Given the description of an element on the screen output the (x, y) to click on. 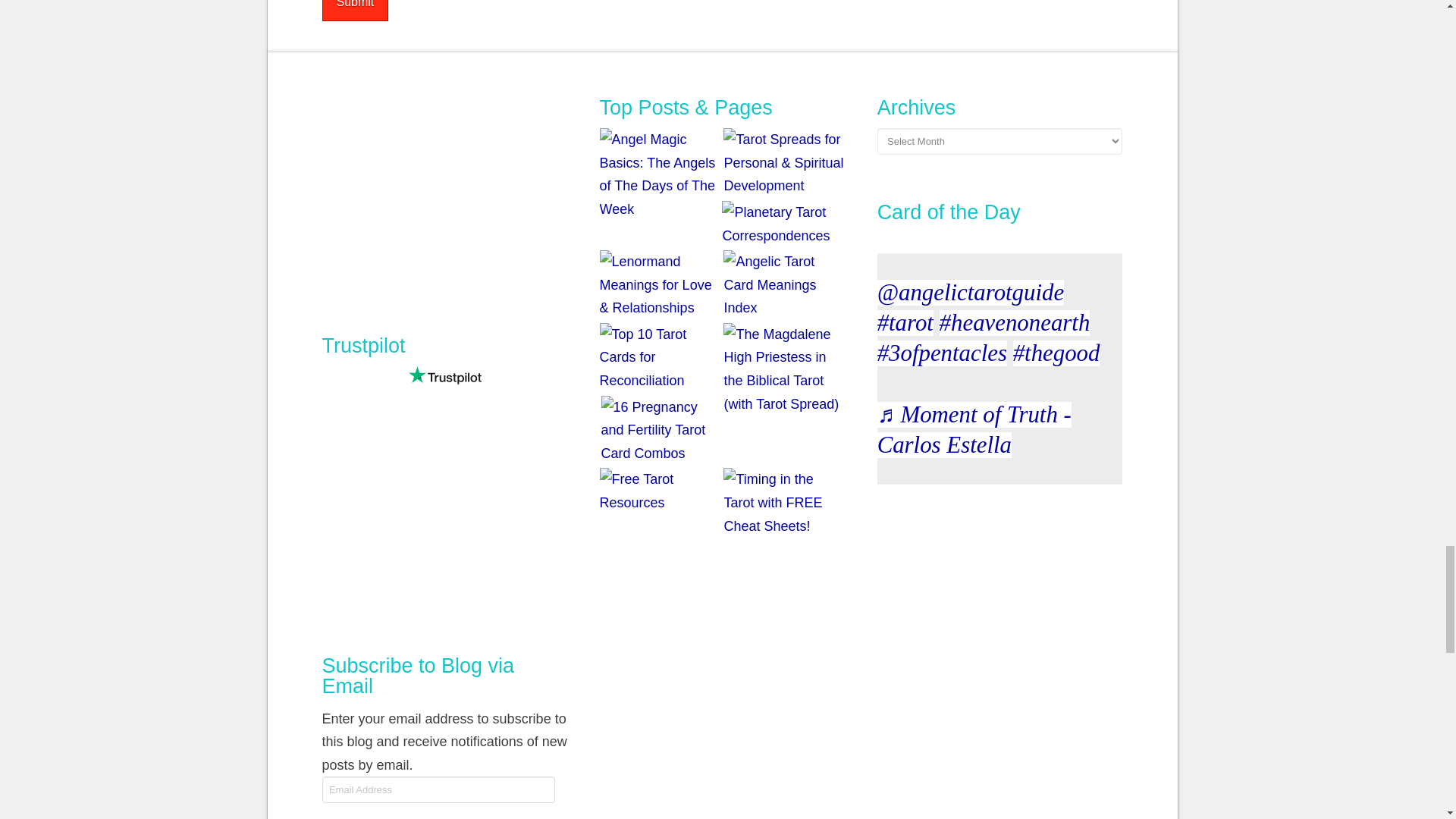
Submit (354, 10)
